Given the description of an element on the screen output the (x, y) to click on. 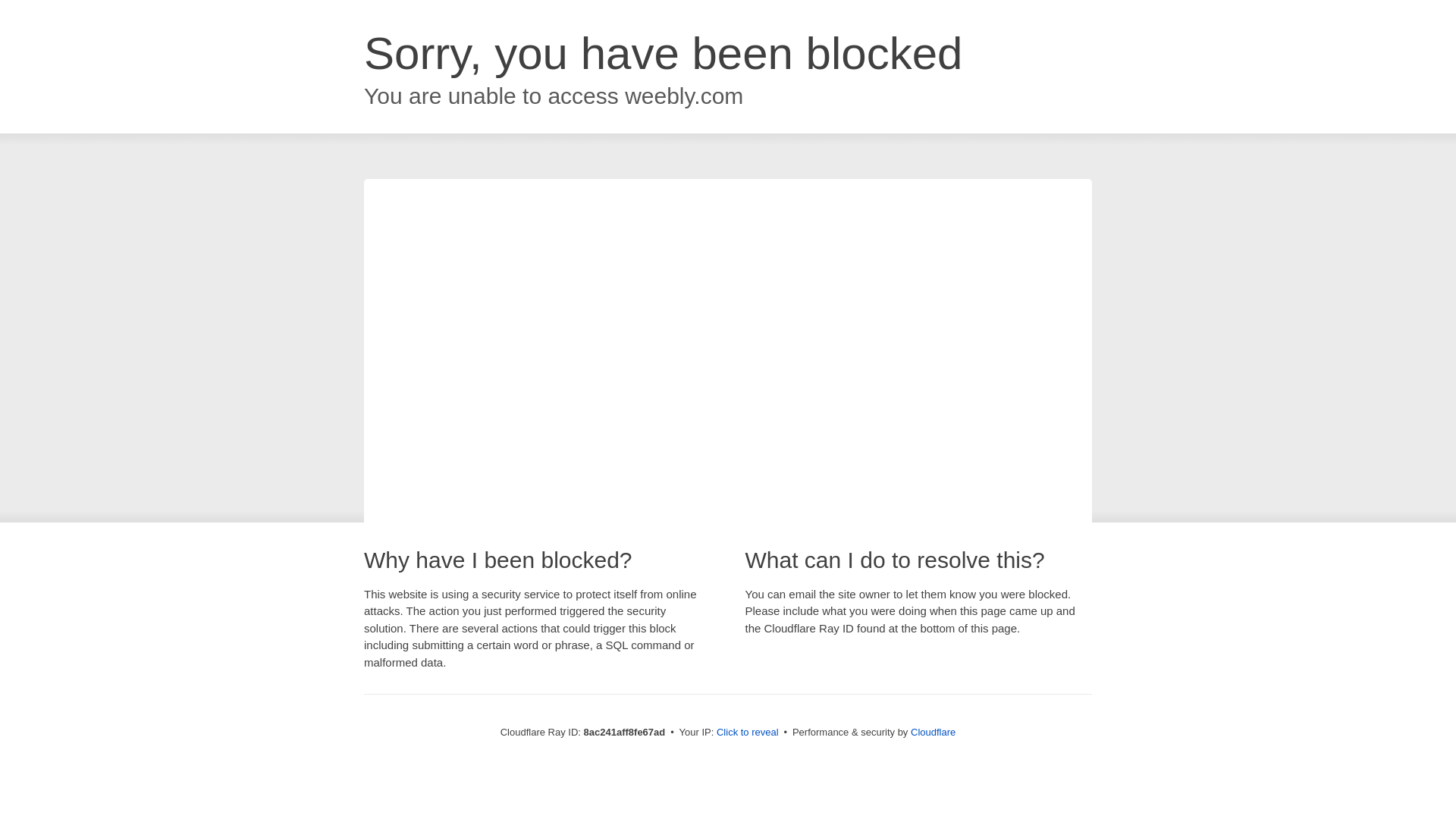
Cloudflare (933, 731)
Click to reveal (747, 732)
